Given the description of an element on the screen output the (x, y) to click on. 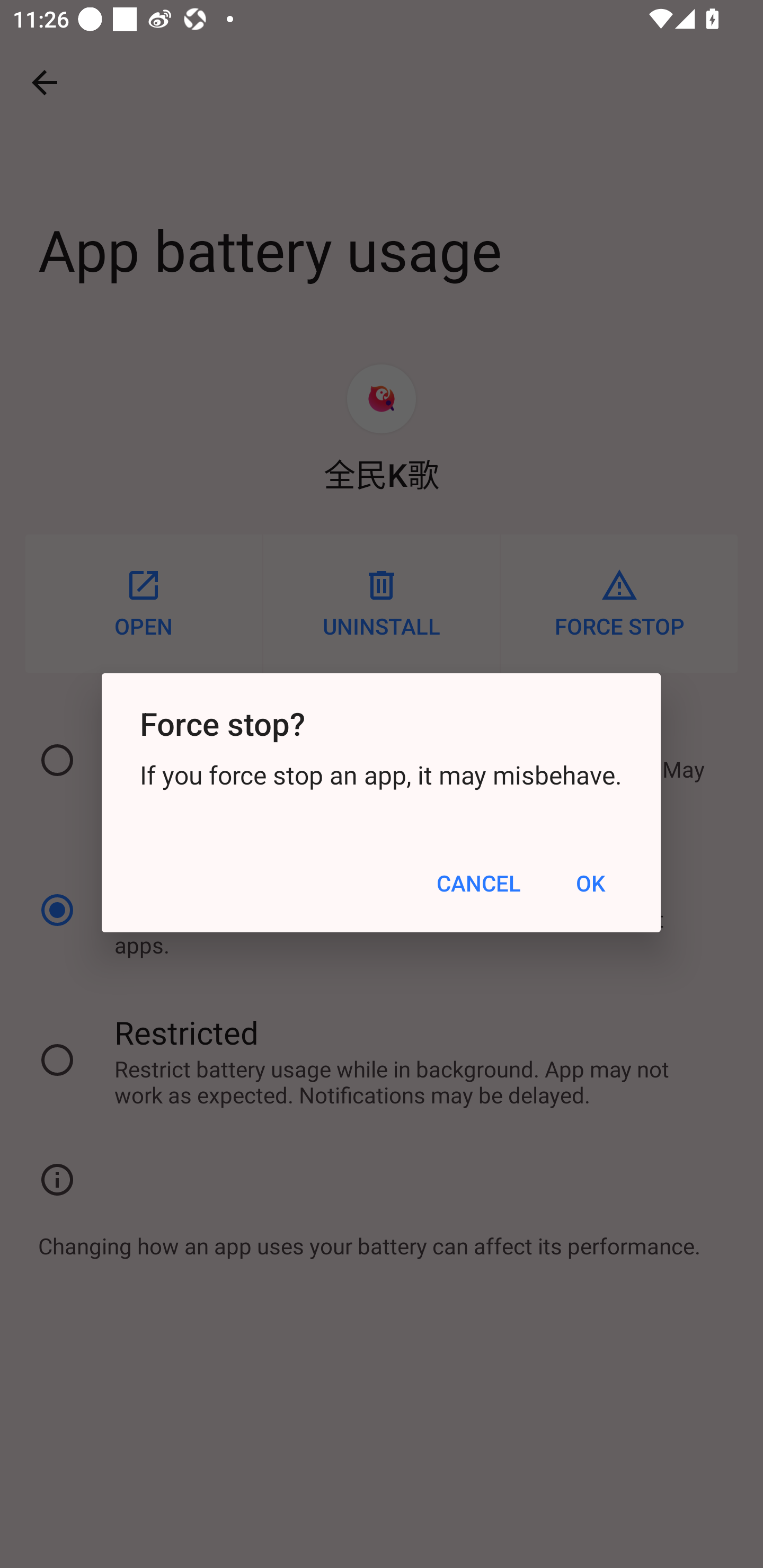
CANCEL (478, 883)
OK (590, 883)
